Given the description of an element on the screen output the (x, y) to click on. 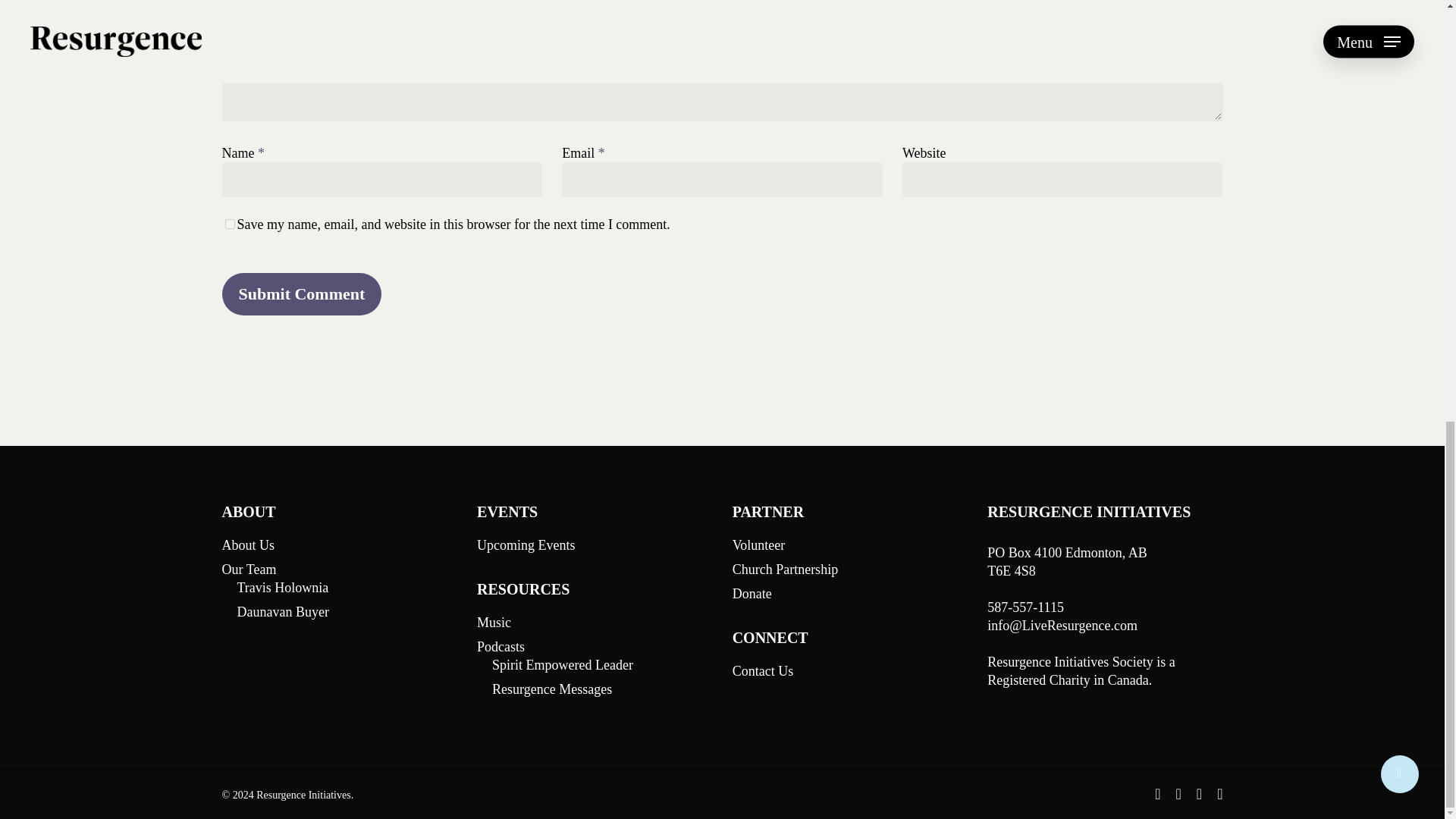
Travis Holownia (346, 587)
Resurgence Messages (601, 689)
Our Team (339, 569)
Daunavan Buyer (346, 611)
Donate (850, 593)
Upcoming Events (594, 545)
Volunteer (850, 545)
yes (229, 224)
Submit Comment (301, 293)
Contact Us (850, 670)
